Given the description of an element on the screen output the (x, y) to click on. 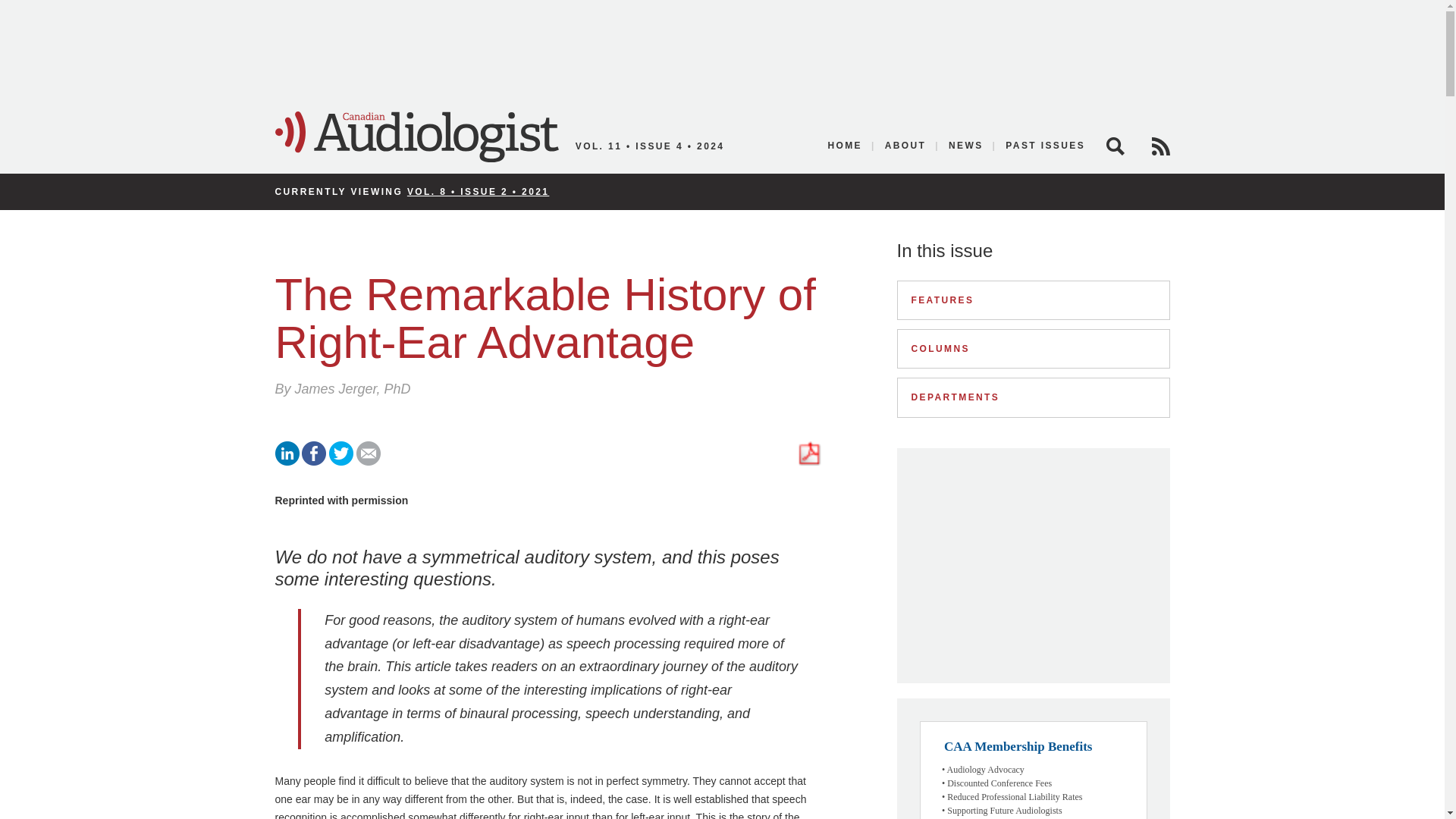
ABOUT (906, 145)
News for Canadian Audiologists (965, 145)
Canadian Audiologist (416, 136)
Share on Facebook (313, 461)
PAST ISSUES (1039, 145)
3rd party ad content (1032, 565)
Search the Canadian Audiologists site (1115, 146)
3rd party ad content (721, 49)
Share on LinkedIn (286, 461)
View the RSS Feed for Canadian Audiologists (1160, 146)
Send email (368, 461)
NEWS (965, 145)
RSS Feed (1160, 146)
HOME (844, 145)
About The Canadian Academy of Audiology (906, 145)
